Given the description of an element on the screen output the (x, y) to click on. 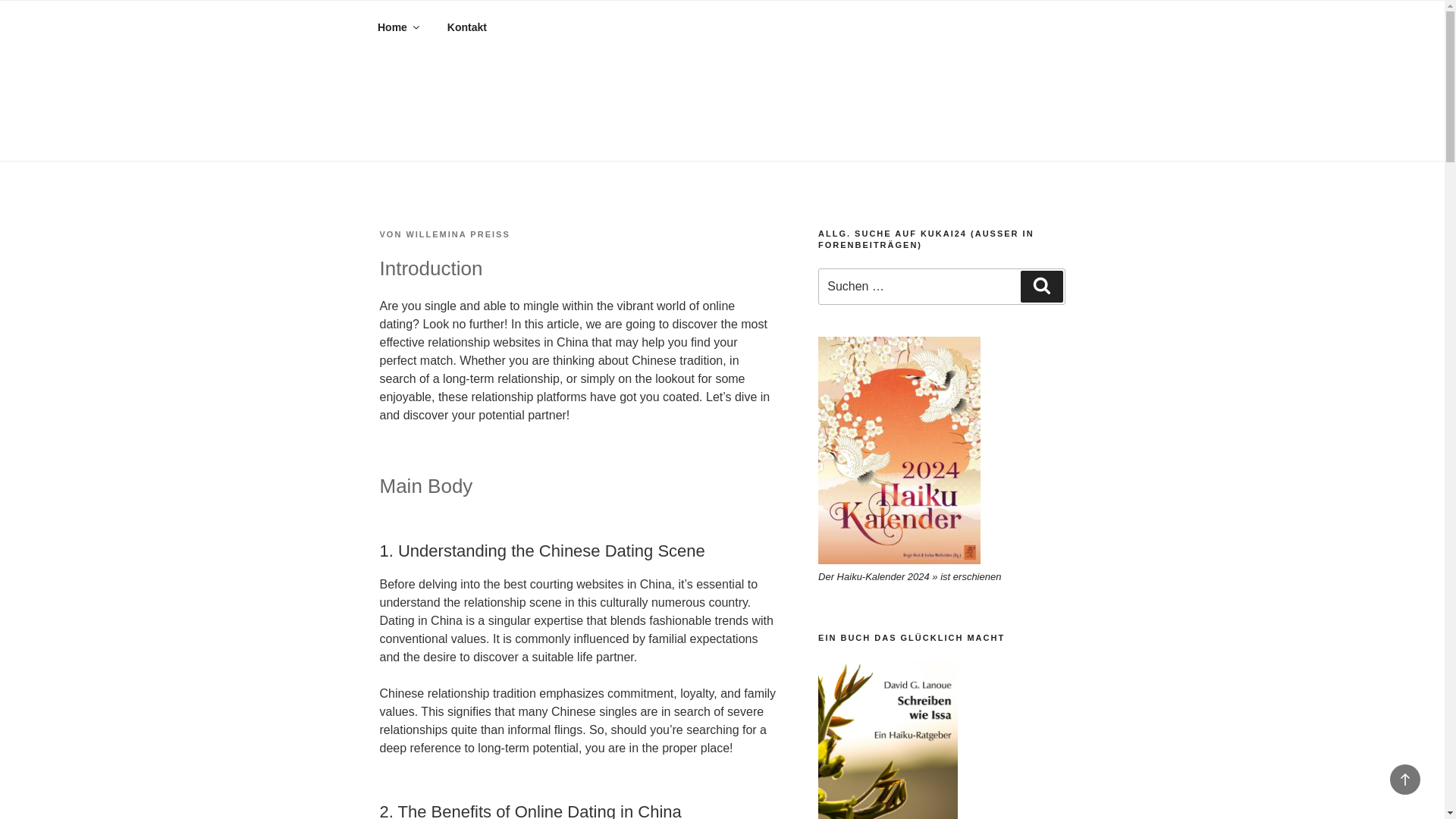
Kontakt (466, 27)
Home (397, 27)
